Given the description of an element on the screen output the (x, y) to click on. 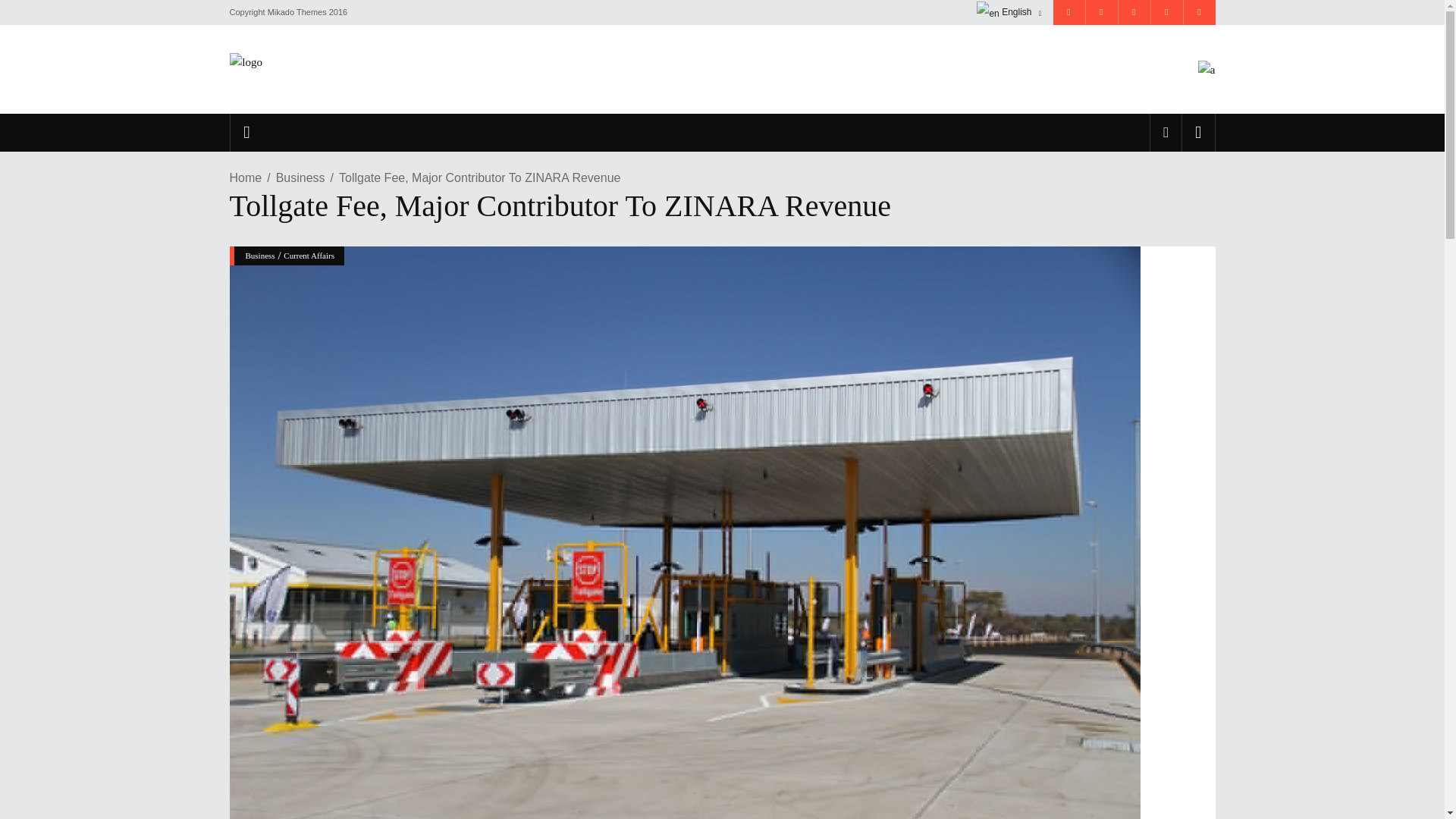
 English (1008, 12)
Home (245, 177)
Business (260, 255)
Business (300, 177)
Current Affairs (308, 255)
